Given the description of an element on the screen output the (x, y) to click on. 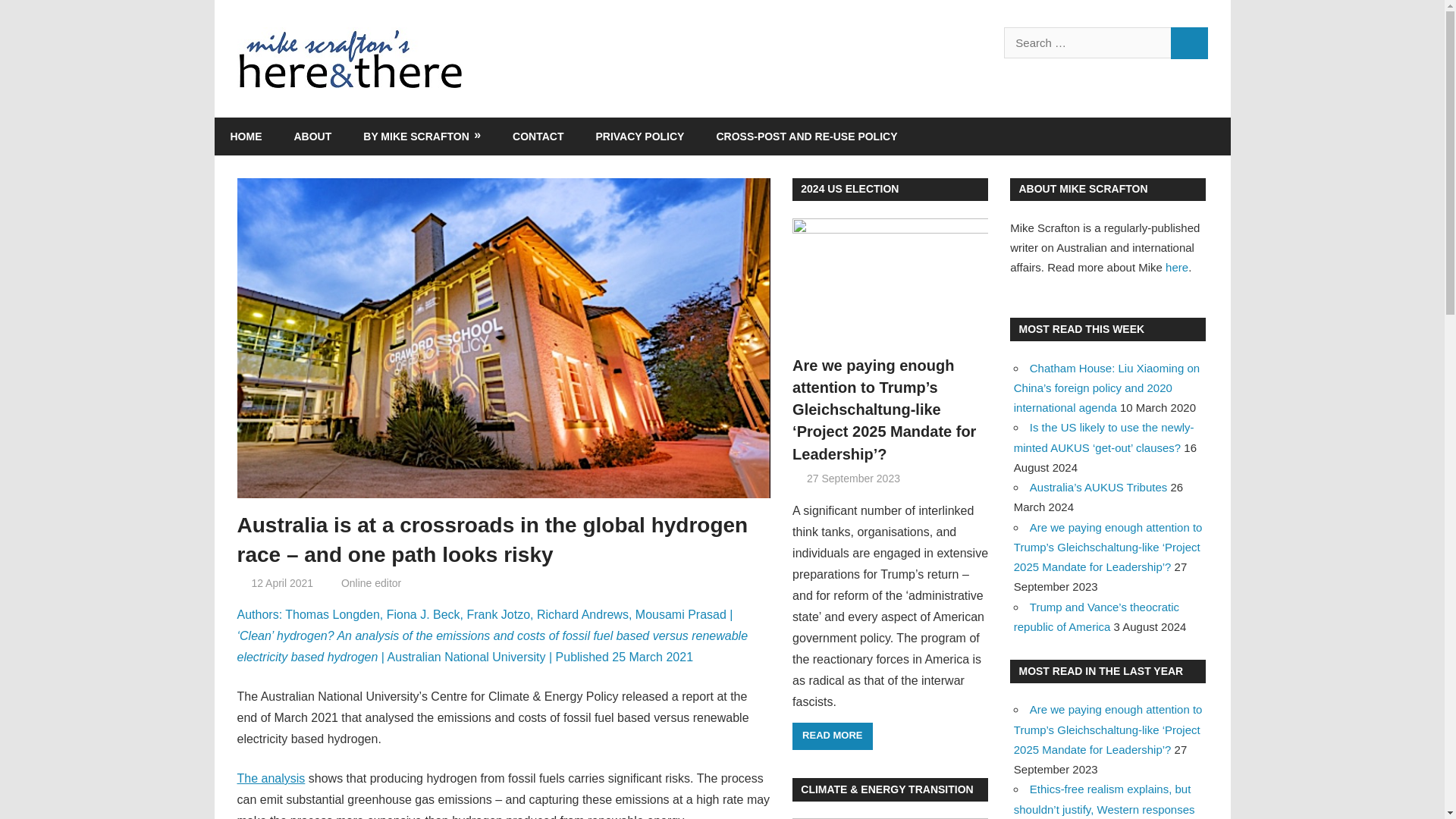
Climate and environment (485, 582)
The analysis (269, 778)
View all posts by Online editor (370, 582)
ABOUT (312, 136)
CROSS-POST AND RE-USE POLICY (806, 136)
2024 US ELECTION (849, 188)
HOME (246, 136)
View all posts from category Climate crisis (886, 788)
10:41 pm (281, 582)
READ MORE (832, 736)
